Given the description of an element on the screen output the (x, y) to click on. 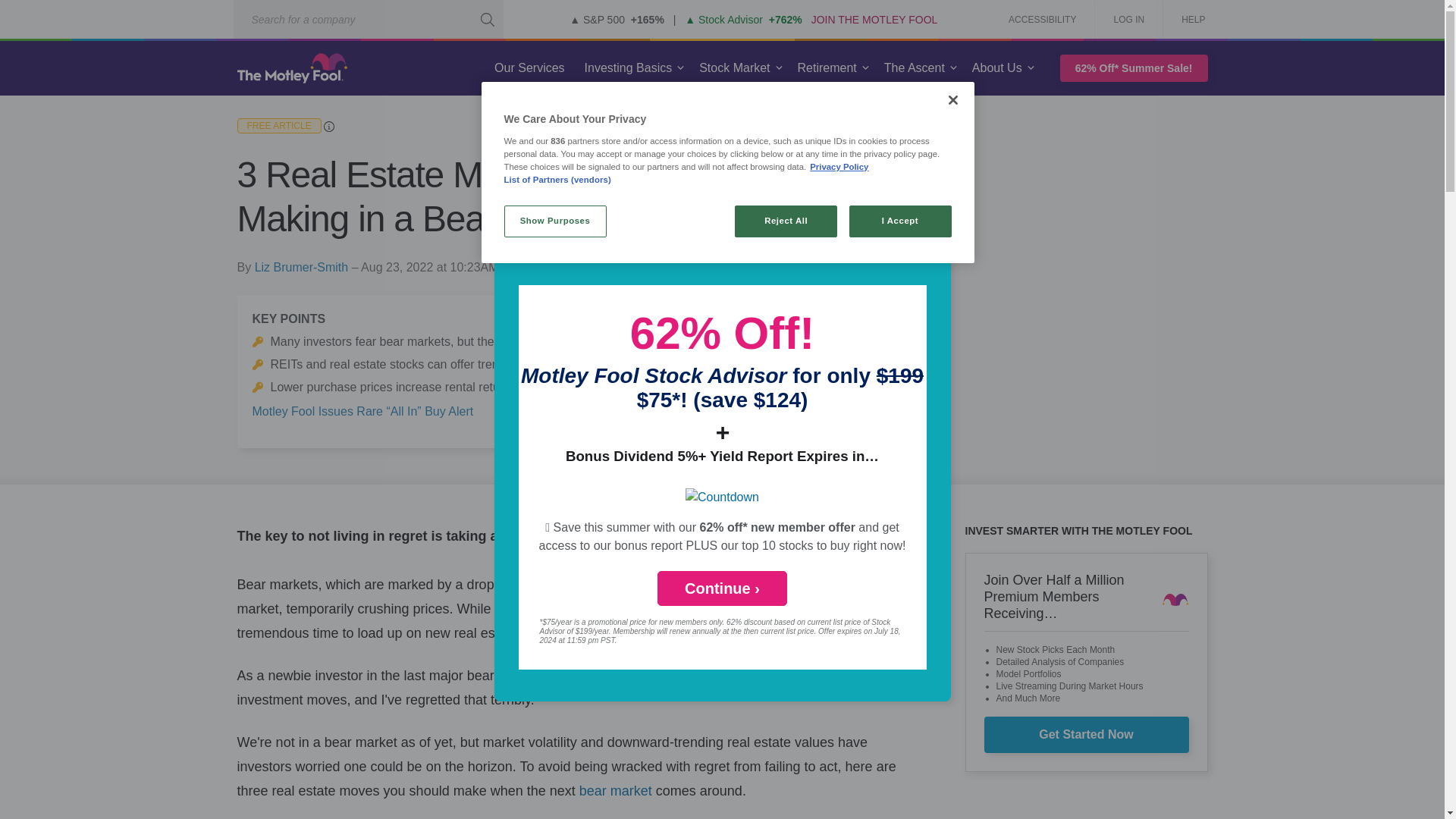
HELP (1187, 19)
Investing Basics (627, 67)
Our Services (528, 67)
LOG IN (1128, 19)
Stock Market (734, 67)
ACCESSIBILITY (1042, 19)
